Given the description of an element on the screen output the (x, y) to click on. 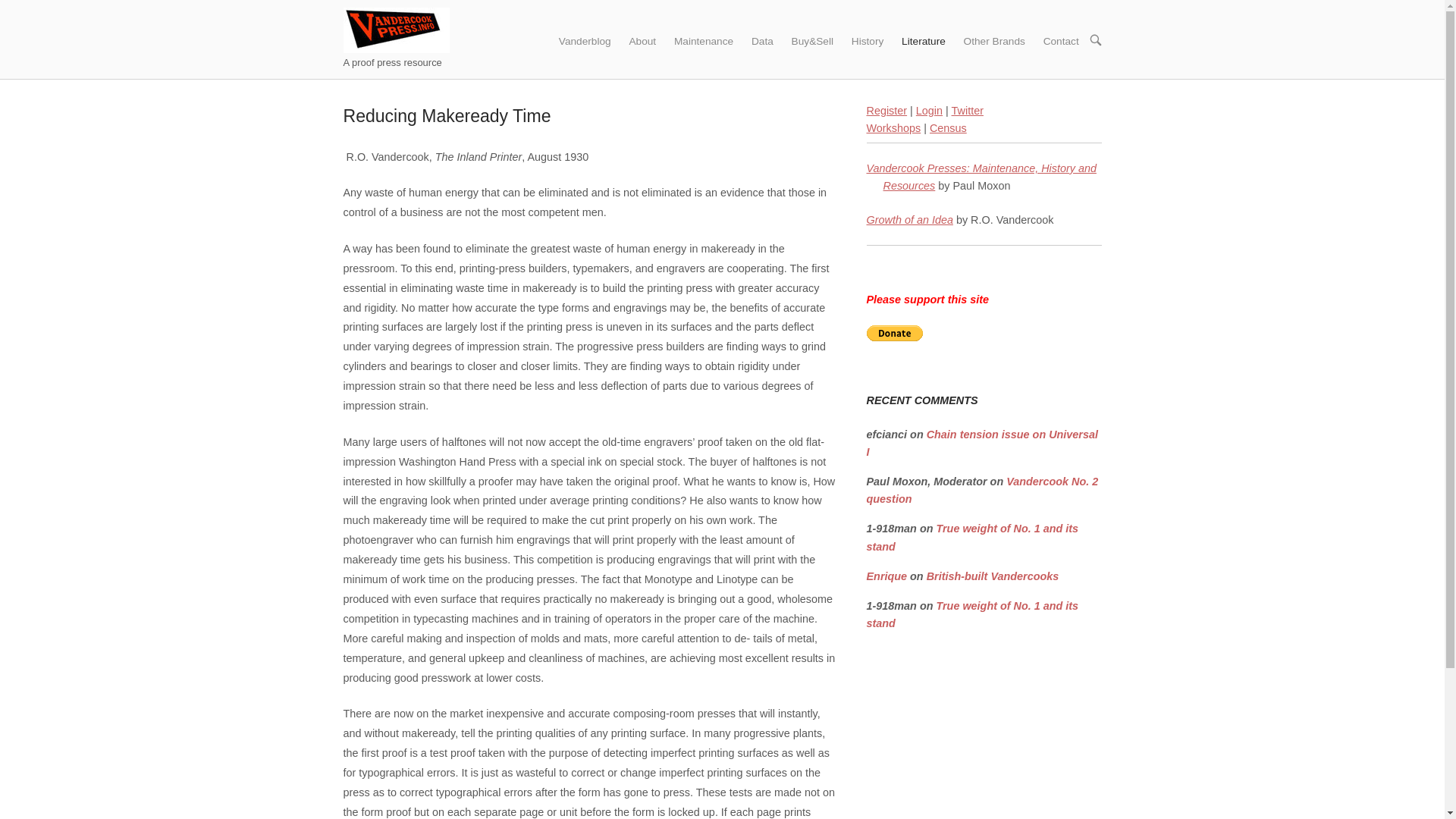
Maintenance (703, 39)
History (867, 39)
Data (762, 39)
Home (395, 29)
About (642, 39)
Vanderblog (584, 39)
